Given the description of an element on the screen output the (x, y) to click on. 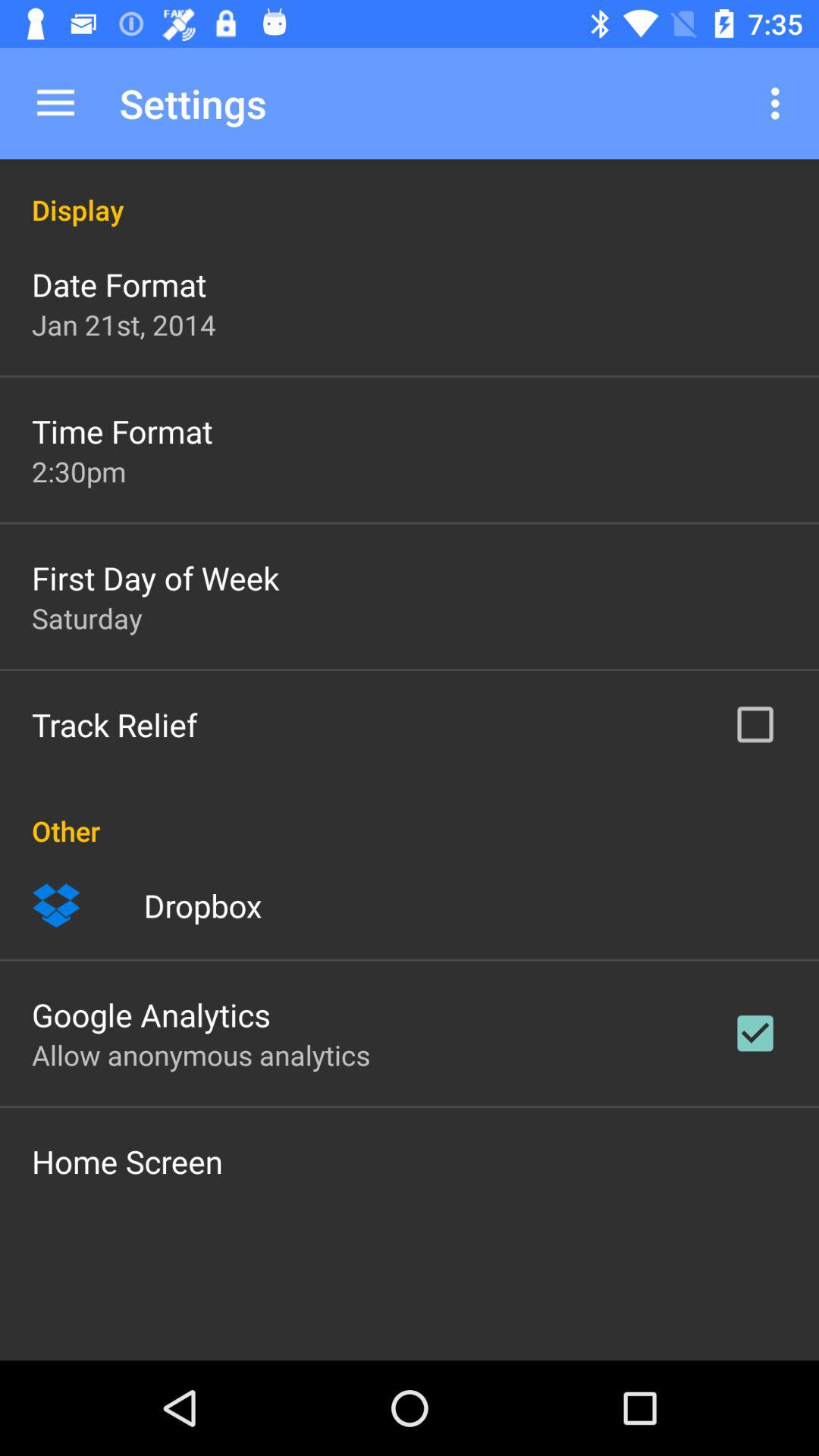
scroll to dropbox item (202, 905)
